Given the description of an element on the screen output the (x, y) to click on. 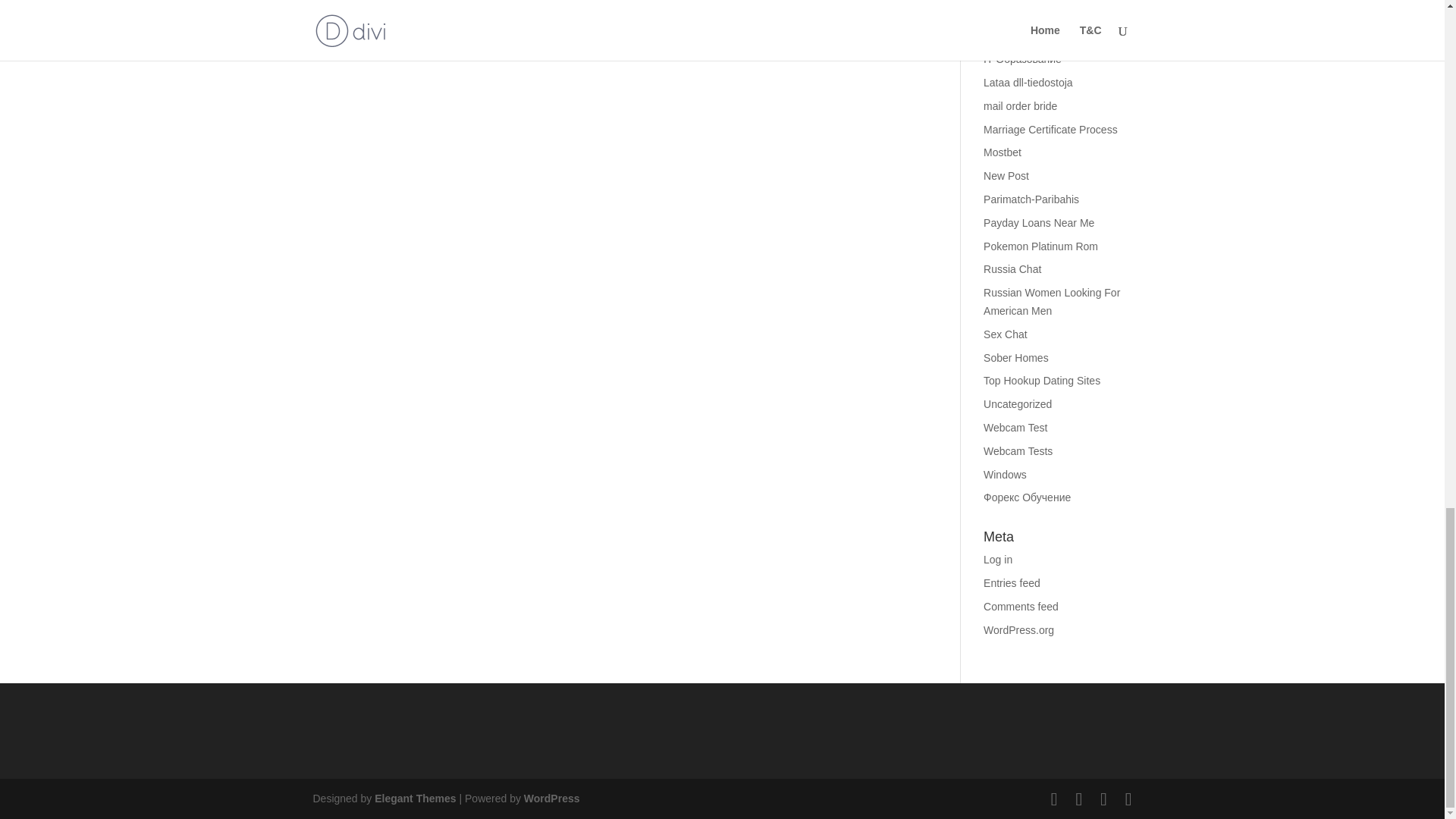
Premium WordPress Themes (414, 798)
